Given the description of an element on the screen output the (x, y) to click on. 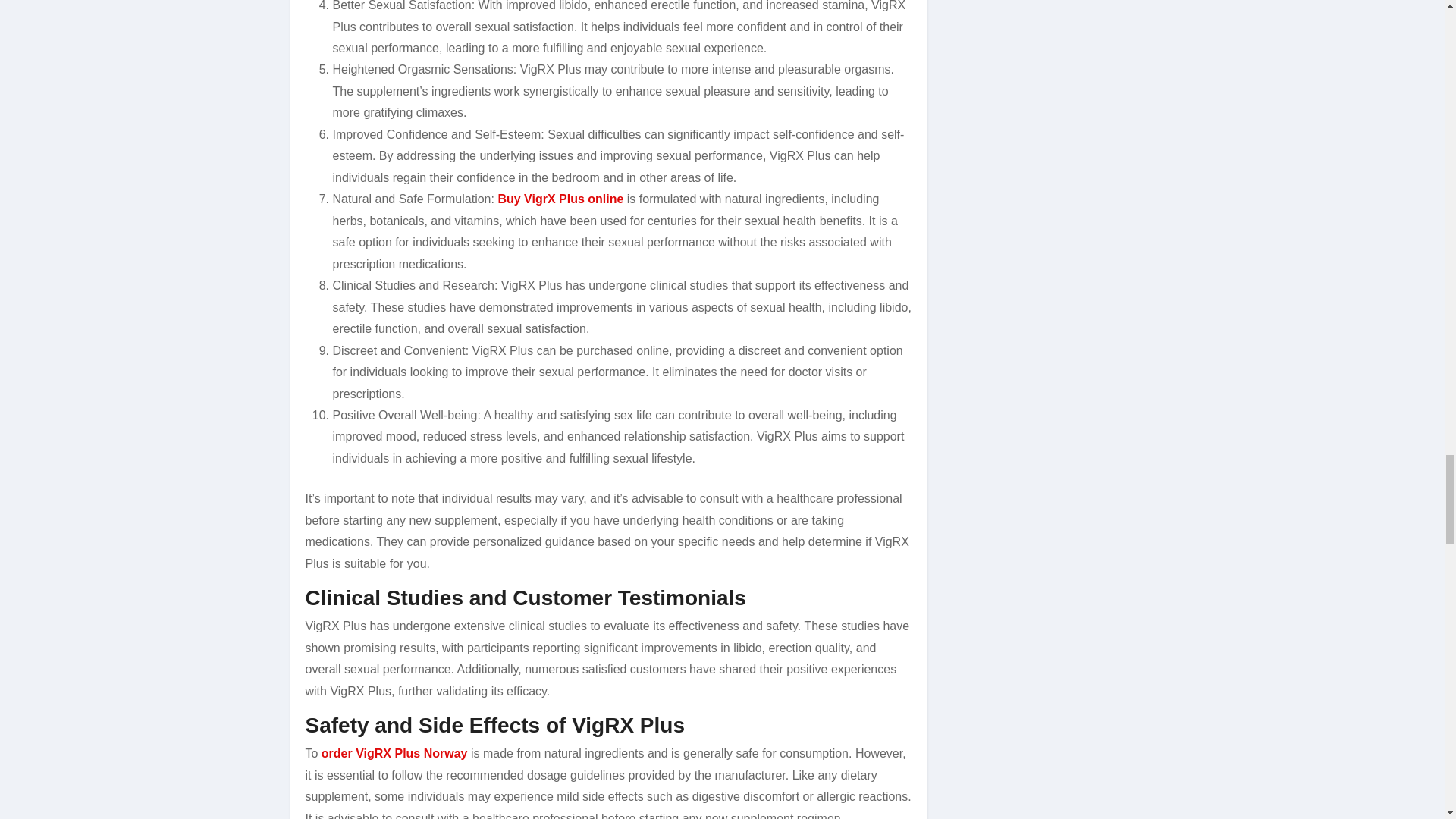
Buy VigrX Plus online (560, 198)
